Given the description of an element on the screen output the (x, y) to click on. 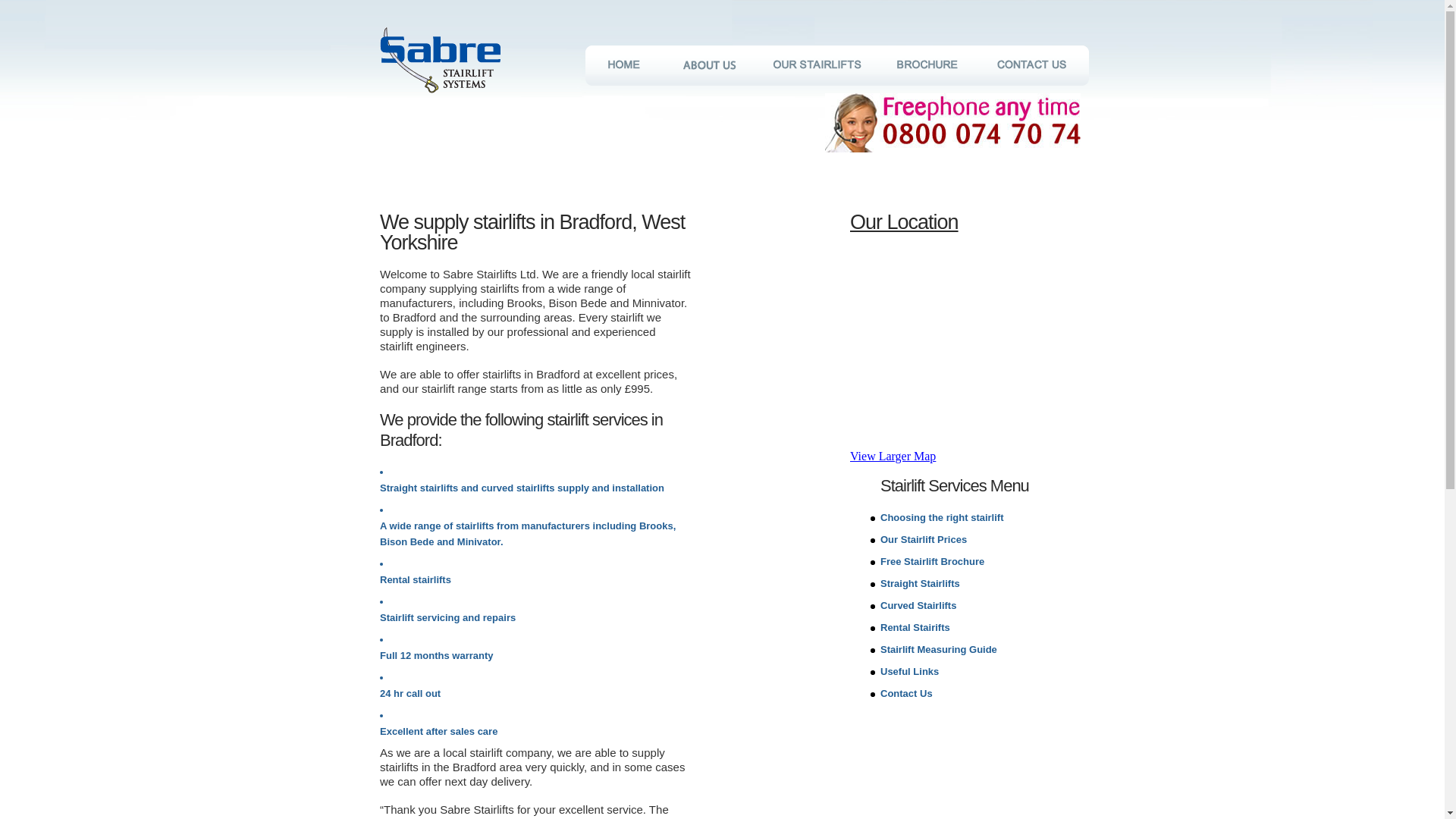
Stairlift servicing and repairs (447, 617)
Brooks (655, 525)
Useful Links (909, 671)
Minivator (478, 541)
Free Stairlift Brochure (932, 561)
Contact Us (906, 693)
Bison Bede (406, 541)
Straight stairlifts (419, 487)
Choosing the right stairlift (942, 517)
View Larger Map (893, 455)
